Given the description of an element on the screen output the (x, y) to click on. 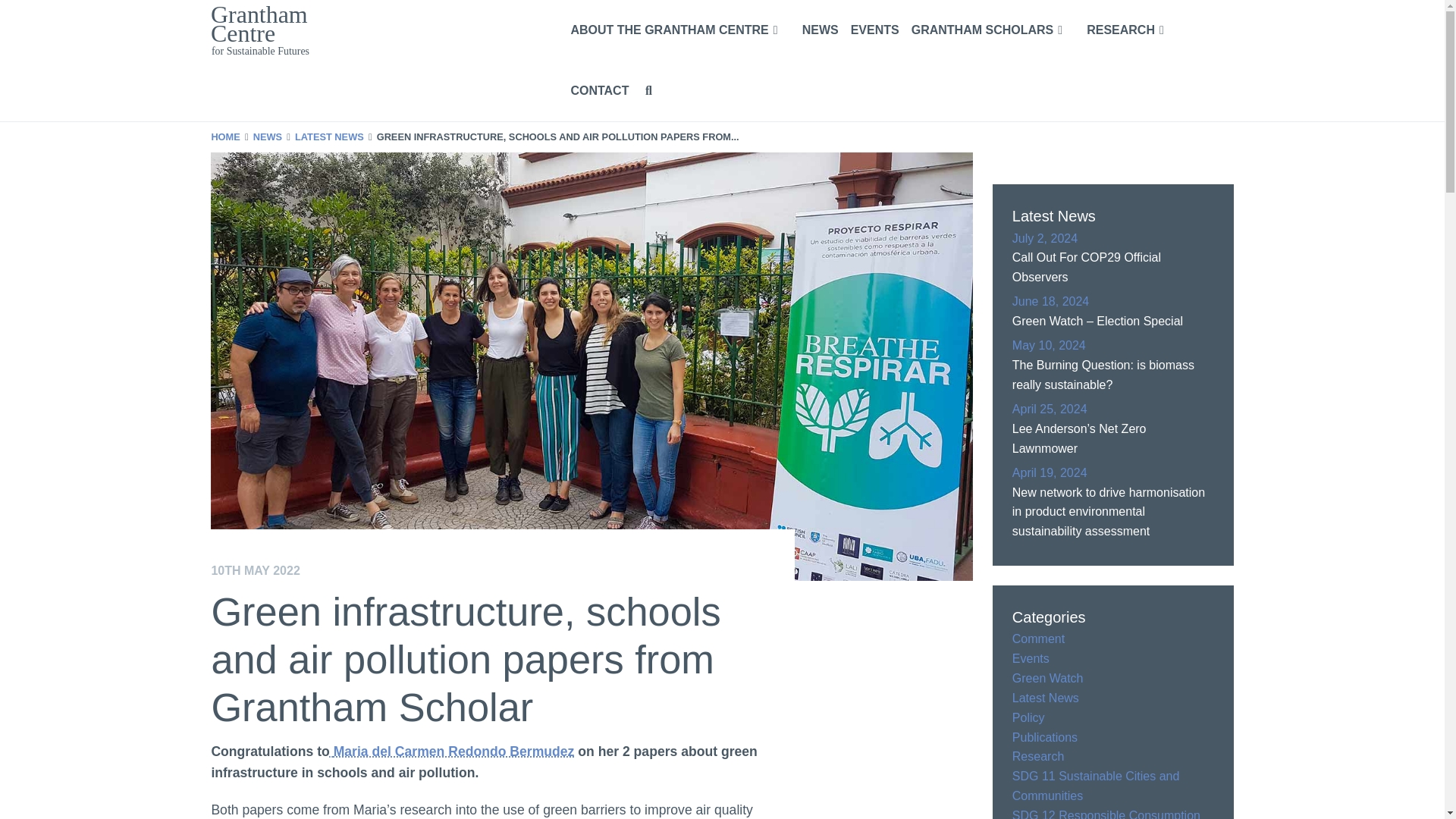
CONTACT (592, 90)
ABOUT THE GRANTHAM CENTRE (673, 30)
10TH MAY 2022 (486, 570)
EVENTS (868, 30)
Search (1193, 167)
Maria del Carmen Redondo Bermudez (452, 751)
GRANTHAM SCHOLARS (987, 30)
RESEARCH (1125, 30)
NEWS (267, 137)
HOME (225, 137)
Grantham Centre for Sustainable Futures (374, 30)
LATEST NEWS (329, 137)
